Given the description of an element on the screen output the (x, y) to click on. 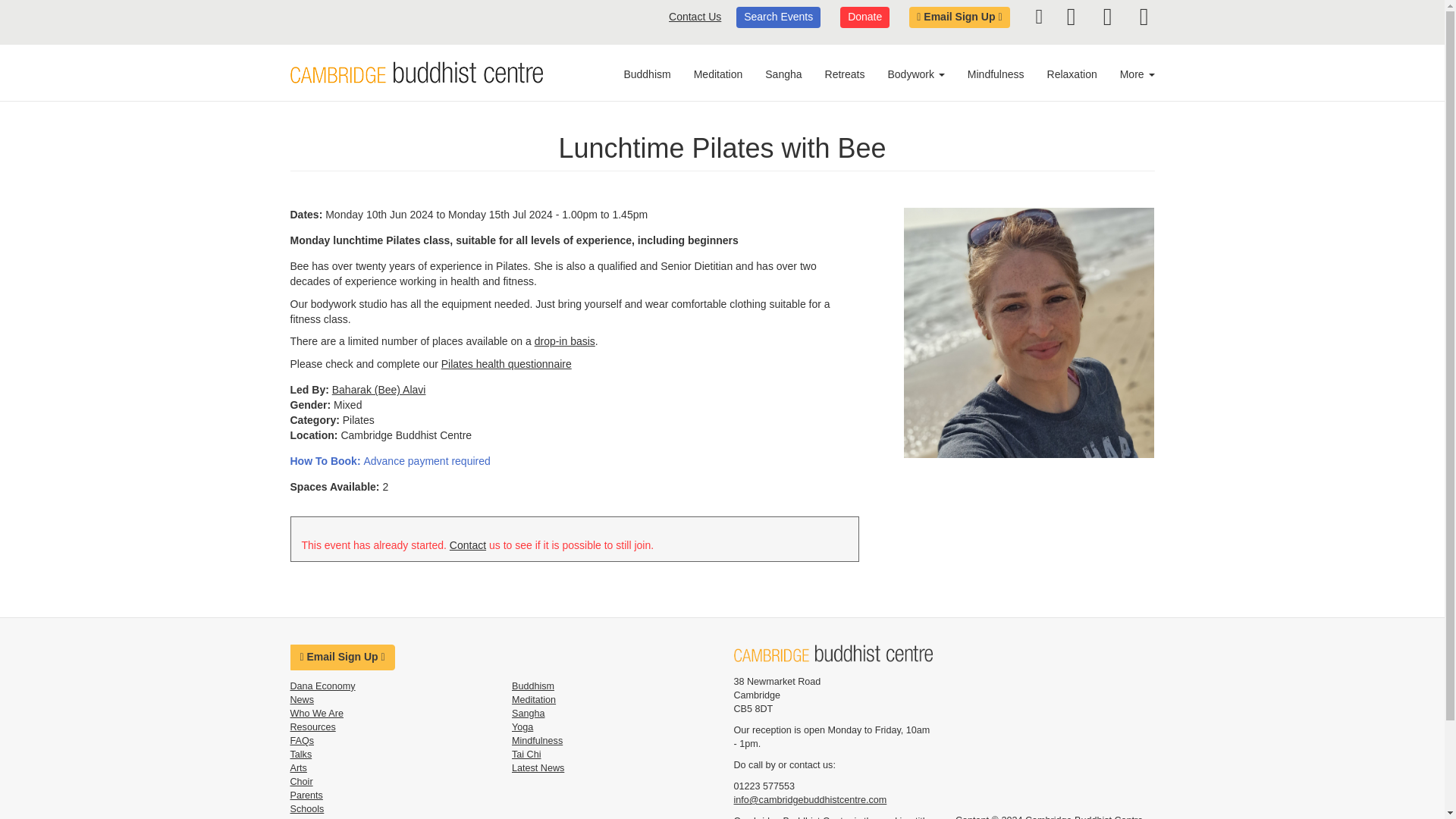
Home (415, 72)
drop-in basis (564, 340)
Sangha (783, 74)
Relaxation (1071, 74)
Home (833, 652)
Contact Us (695, 16)
Donate (864, 16)
Meditation (718, 74)
Buddhism (652, 74)
Retreats (844, 74)
Email Sign Up (958, 16)
Search Events (778, 16)
Bodywork (915, 74)
Pilates health questionnaire (506, 363)
